Given the description of an element on the screen output the (x, y) to click on. 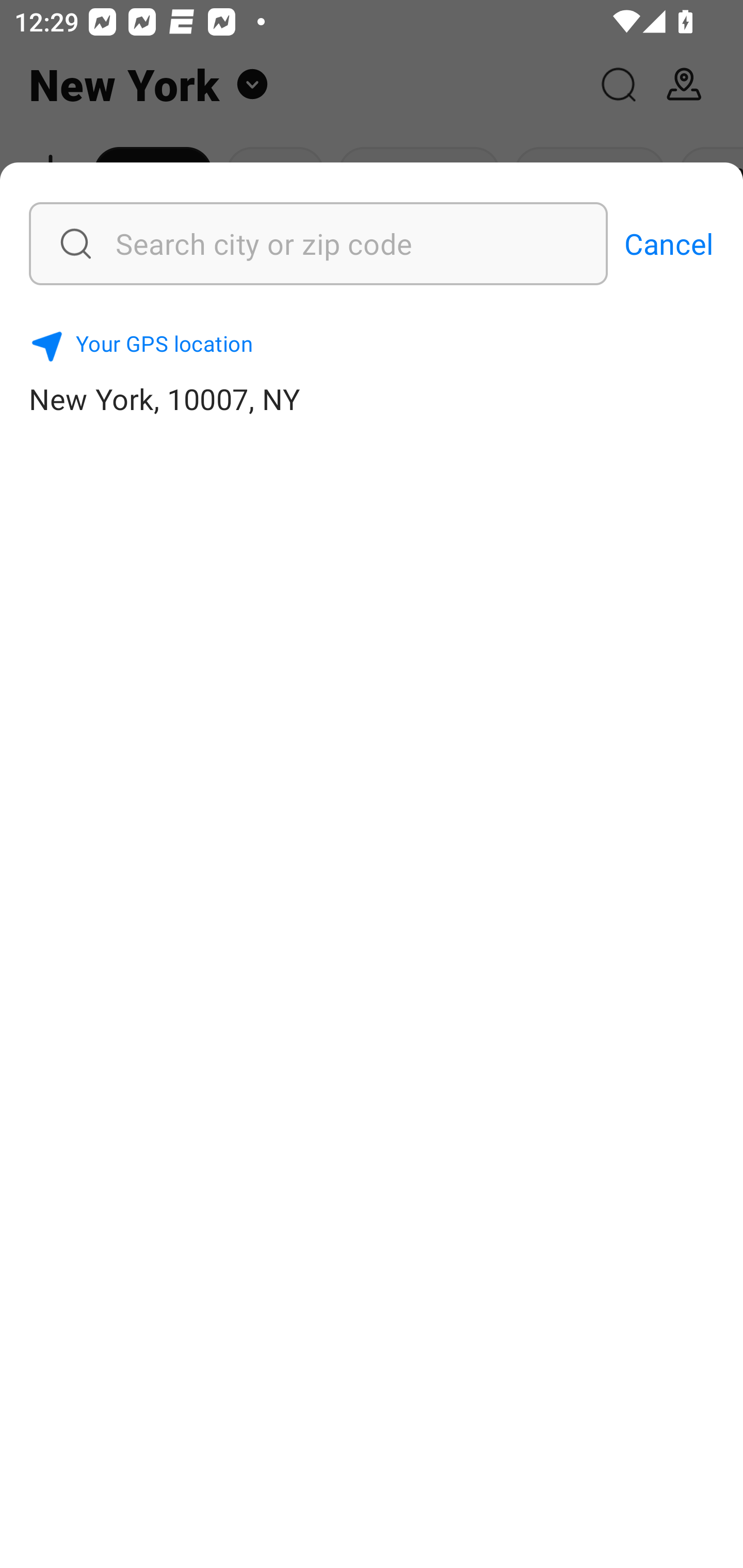
Search city or zip code (267, 243)
Cancel (669, 243)
Your GPS location New York, 10007, NY (371, 370)
